Given the description of an element on the screen output the (x, y) to click on. 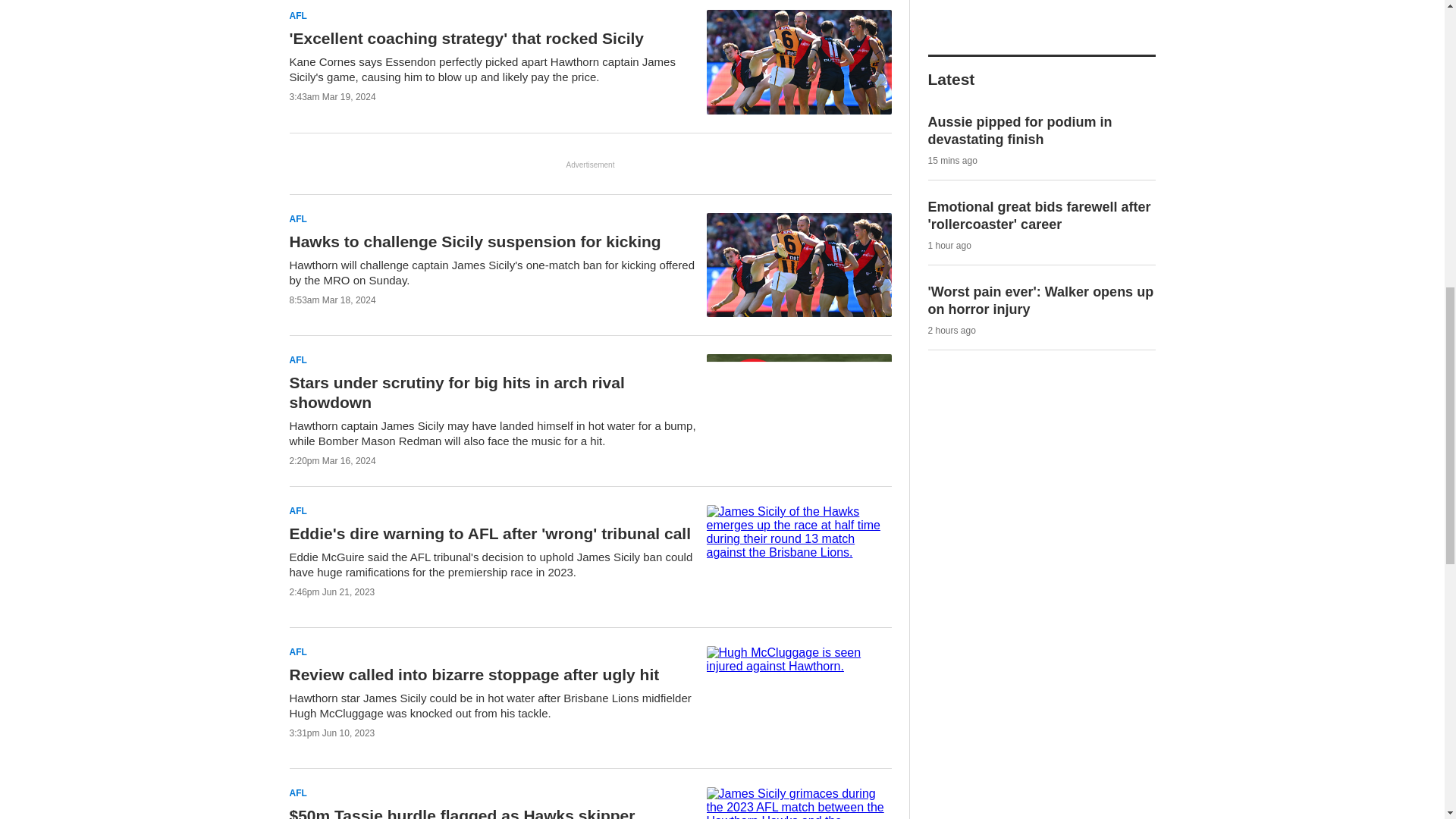
AFL (298, 15)
Hawks to challenge Sicily suspension for kicking (475, 241)
AFL (298, 219)
'Excellent coaching strategy' that rocked Sicily (467, 37)
